Given the description of an element on the screen output the (x, y) to click on. 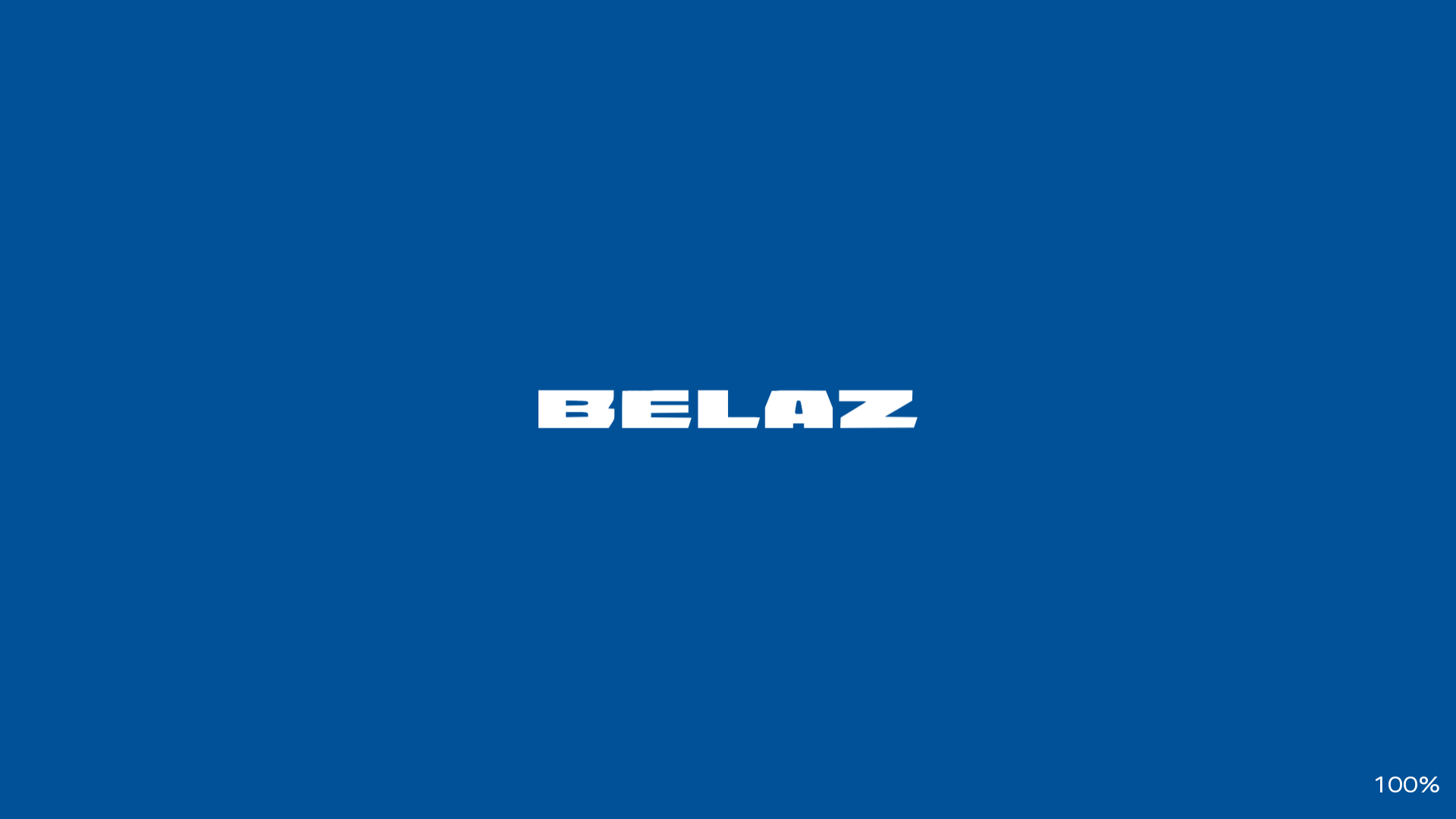
CN Element type: text (1248, 17)
ENG Element type: text (1221, 17)
BELAZ GLOBAL Element type: text (376, 14)
